Given the description of an element on the screen output the (x, y) to click on. 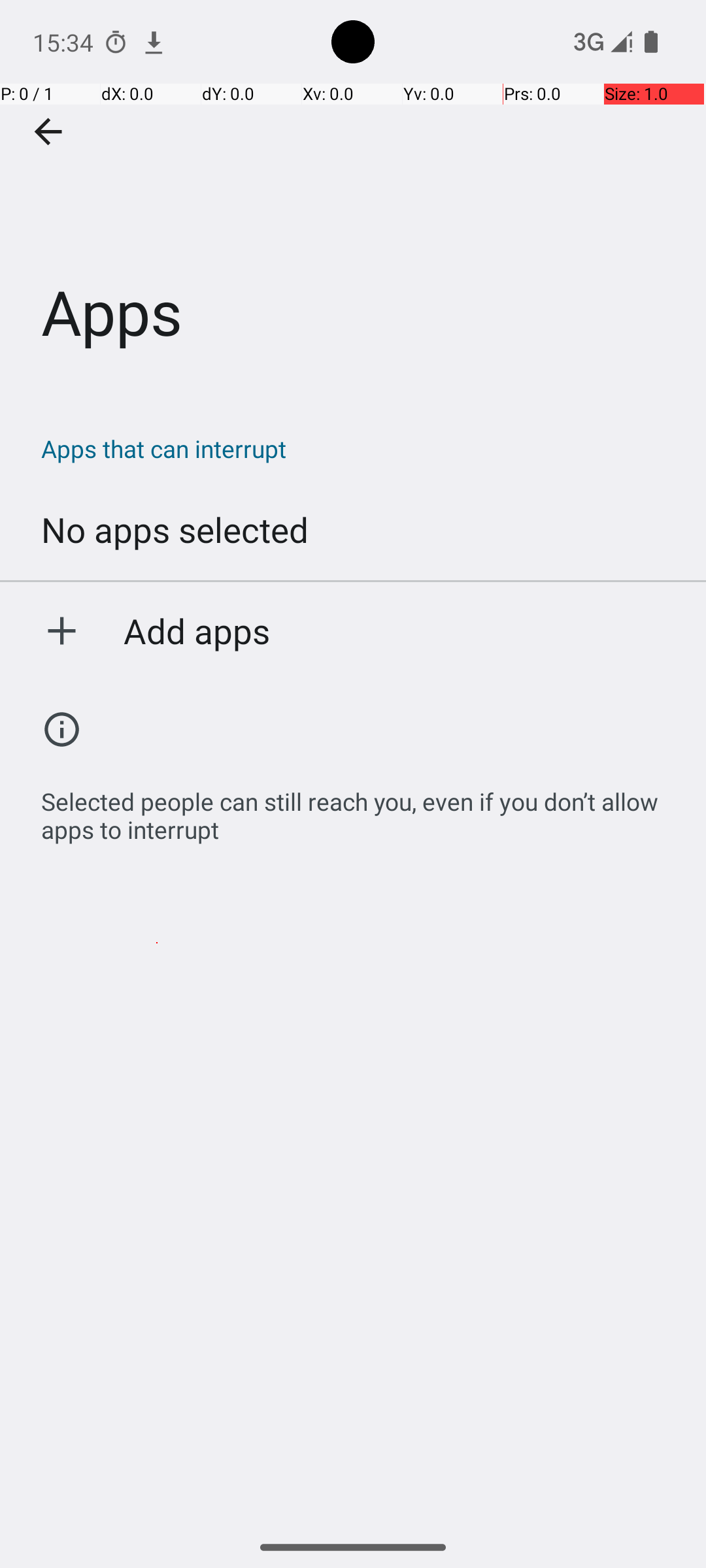
Apps that can interrupt Element type: android.widget.TextView (359, 448)
No apps selected Element type: android.widget.TextView (174, 529)
Add apps Element type: android.widget.TextView (196, 630)
Selected people can still reach you, even if you don’t allow apps to interrupt Element type: android.widget.TextView (359, 808)
